Given the description of an element on the screen output the (x, y) to click on. 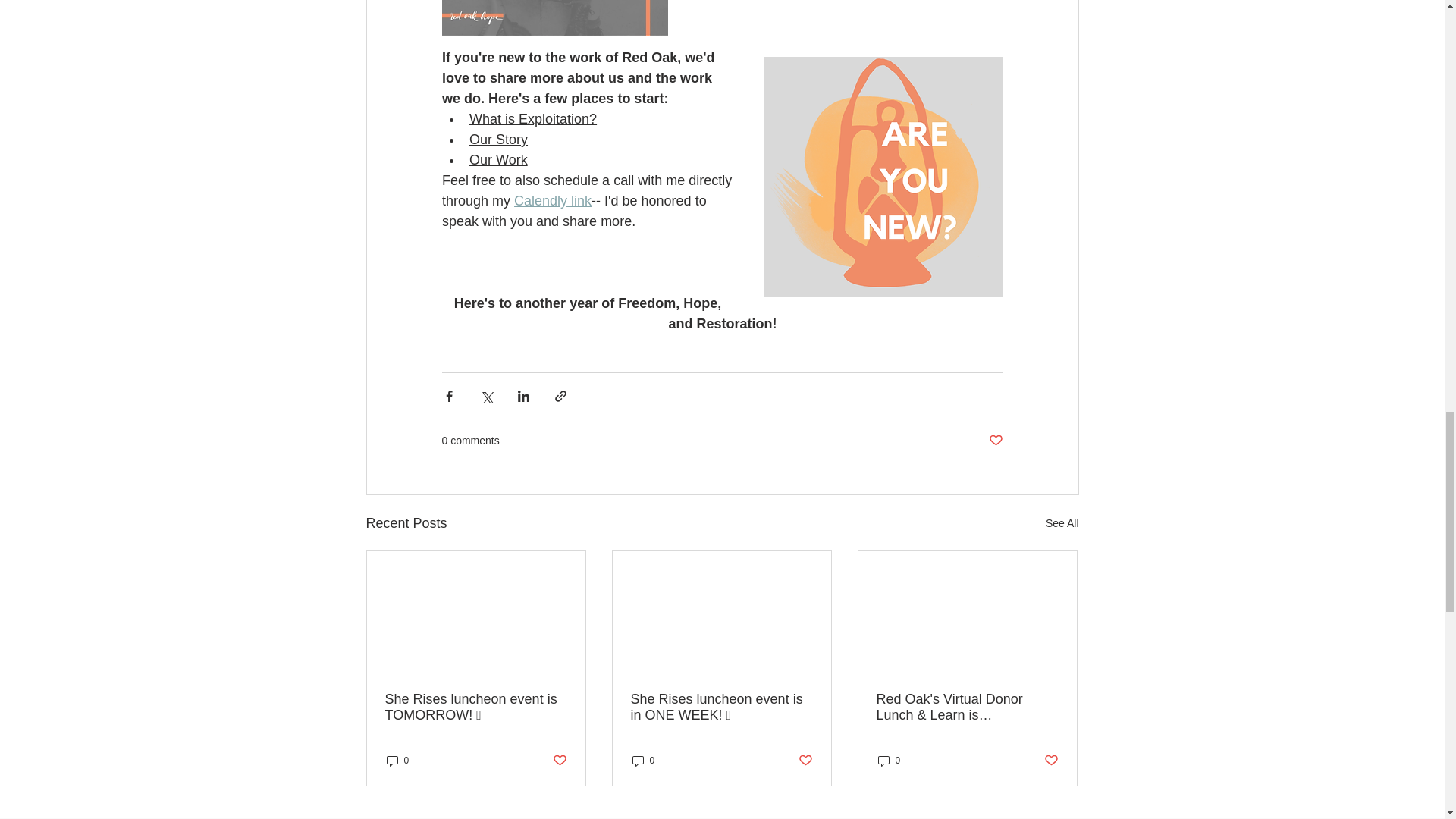
Post not marked as liked (995, 440)
See All (1061, 523)
0 (643, 760)
Post not marked as liked (804, 760)
Post not marked as liked (1050, 760)
0 (889, 760)
0 (397, 760)
Post not marked as liked (558, 760)
Calendly link (552, 200)
